Given the description of an element on the screen output the (x, y) to click on. 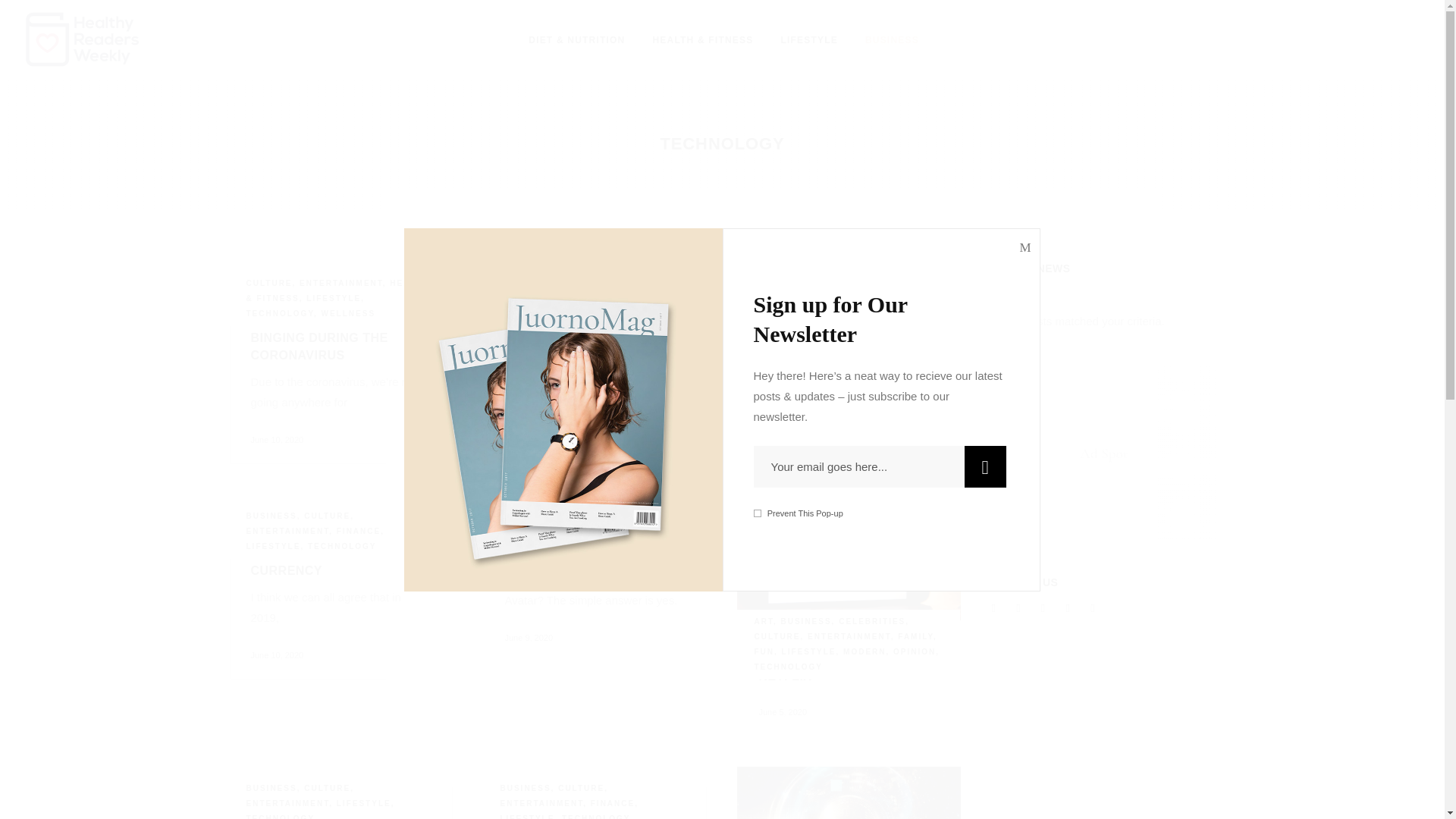
A decade after Avatar (585, 553)
So you bought some Bitcoins. Now what? (848, 792)
Ether: The New World Currency (330, 562)
What to watch next on Netflix (842, 666)
BUSINESS (892, 39)
LIFESTYLE (808, 39)
What to watch next on Netflix (848, 556)
